Given the description of an element on the screen output the (x, y) to click on. 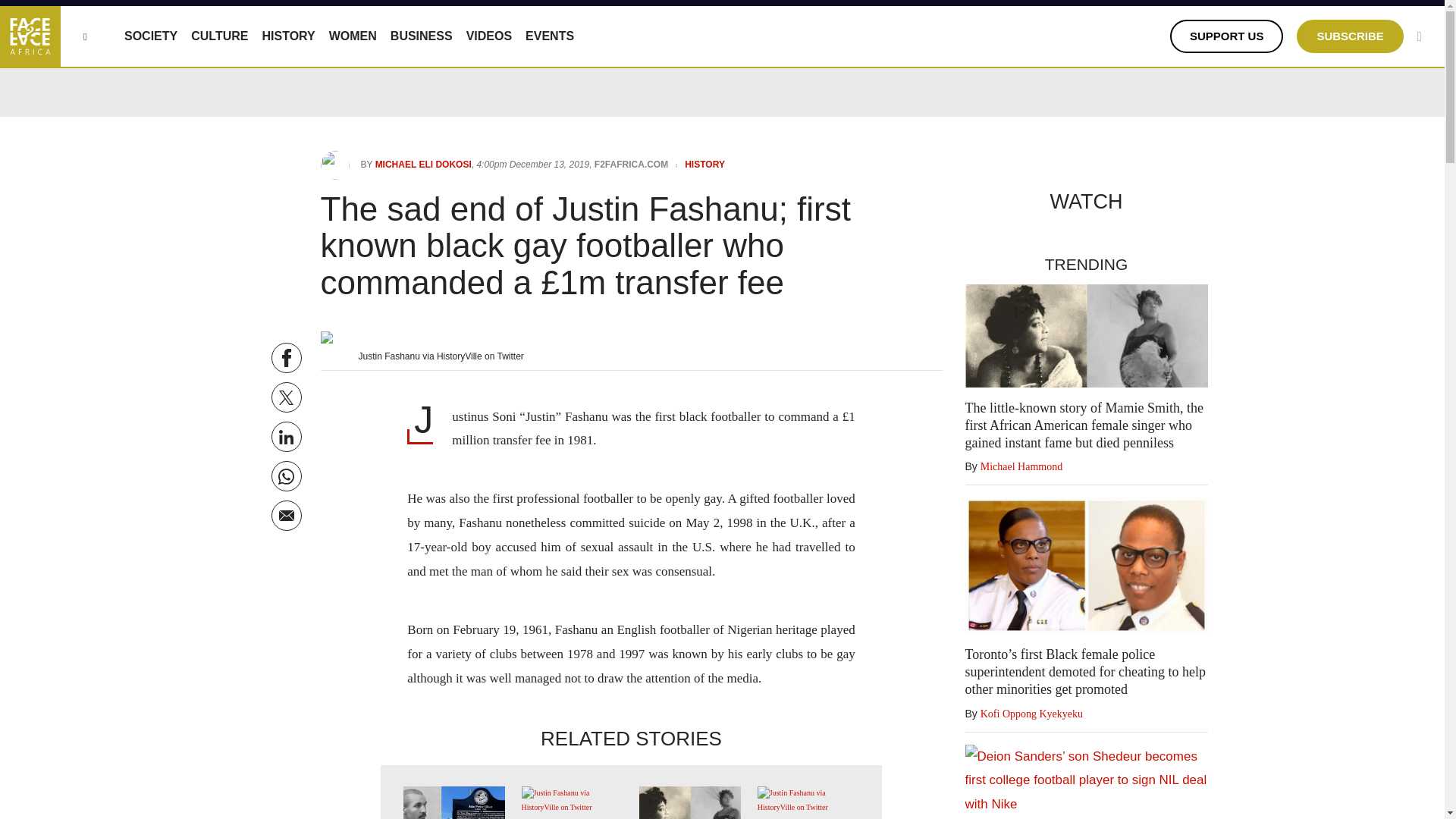
VIDEOS (488, 35)
BUSINESS (421, 35)
EVENTS (549, 35)
WOMEN (353, 35)
SUPPORT US (1227, 36)
SUBSCRIBE (1350, 36)
CULTURE (218, 35)
HISTORY (288, 35)
SOCIETY (150, 35)
